Given the description of an element on the screen output the (x, y) to click on. 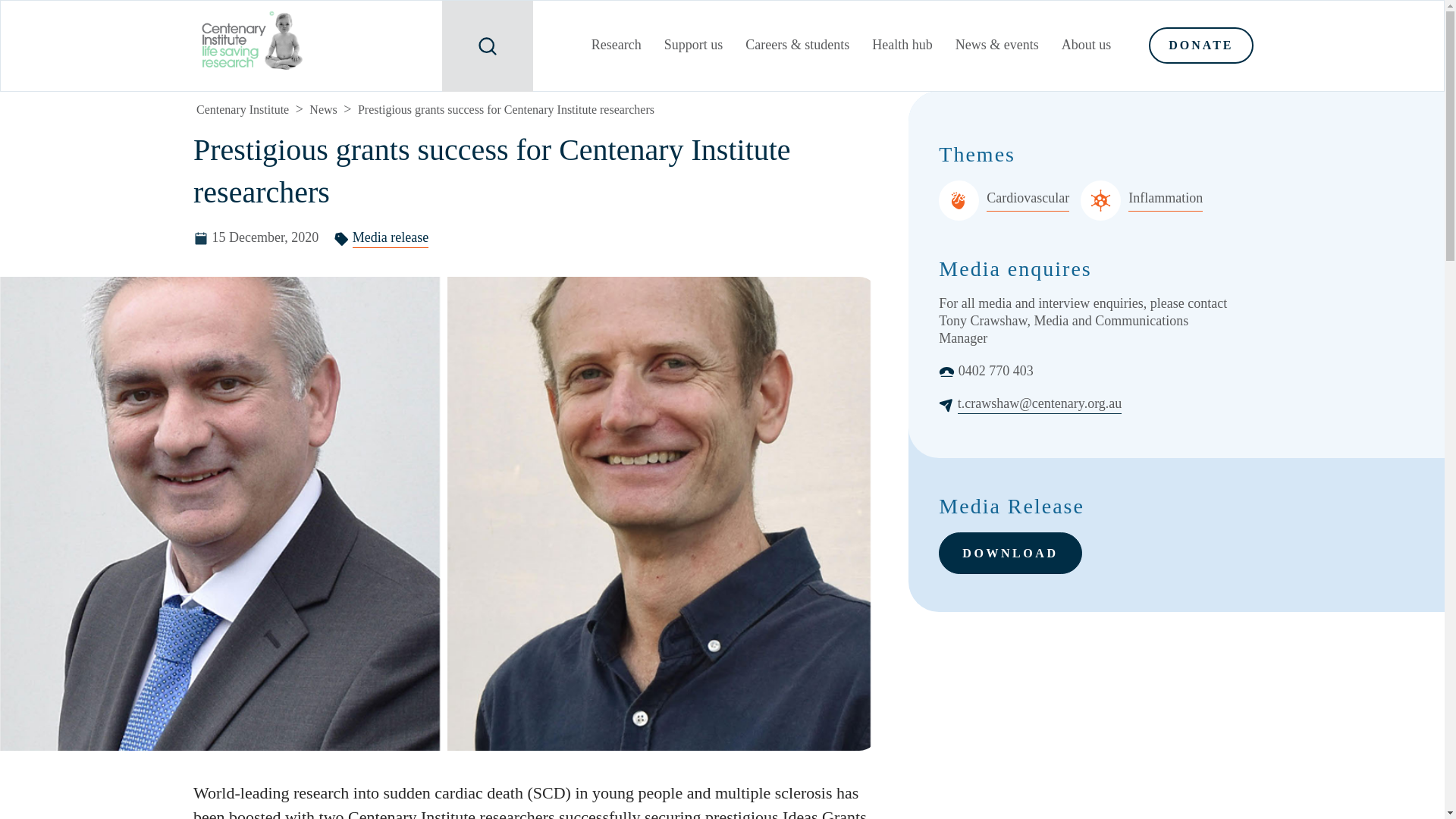
Research (616, 47)
Health hub (901, 47)
Support us (693, 47)
Go to Centenary Institute. (242, 109)
Go to News. (322, 109)
